Given the description of an element on the screen output the (x, y) to click on. 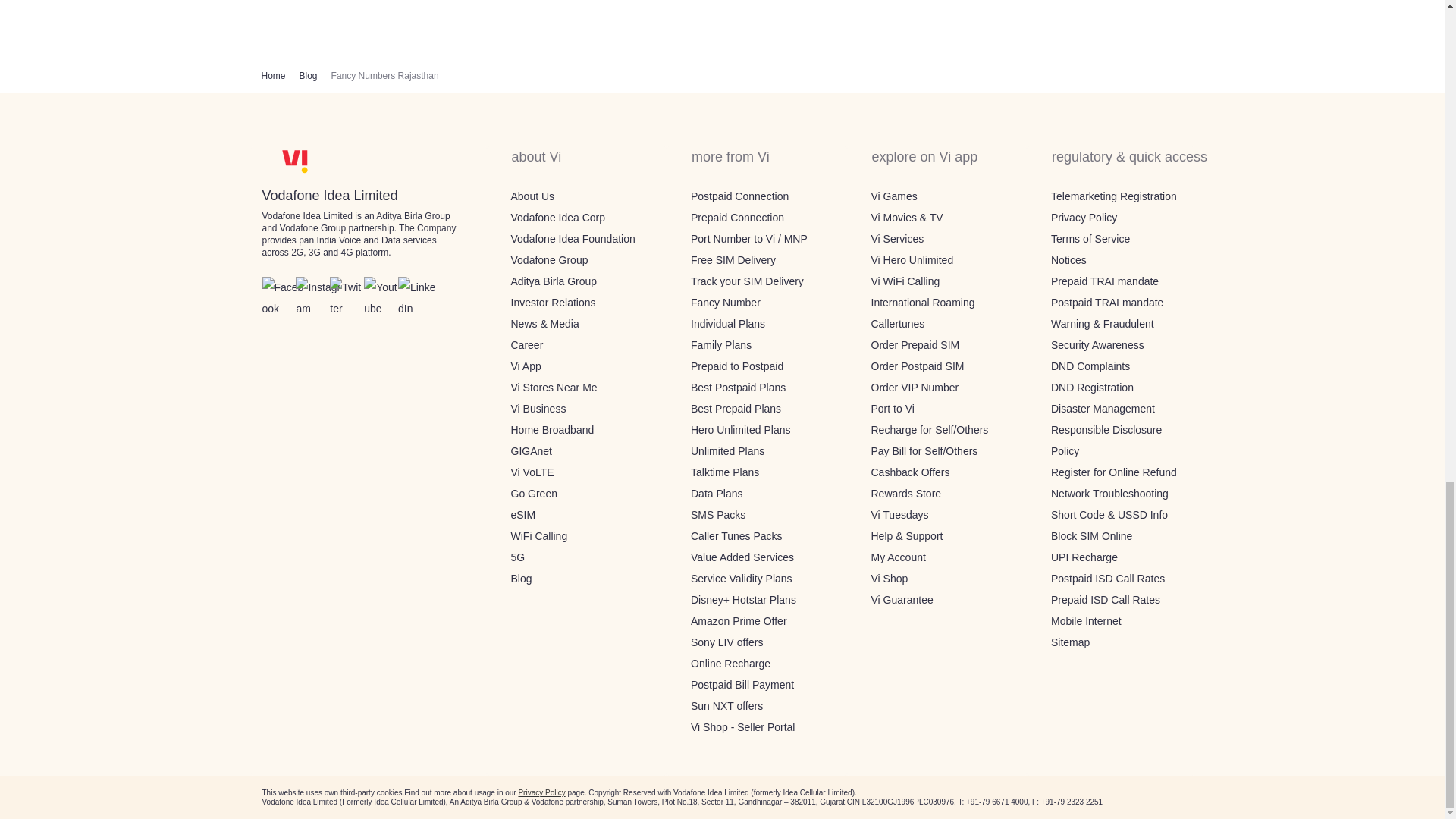
Facebook (285, 297)
Vi (294, 161)
Youtube (383, 297)
Vi Business (538, 408)
Aditya Birla Group (553, 281)
Career (527, 345)
Vi App (526, 366)
Vodafone Idea Corp (558, 217)
Vodafone Idea Foundation (572, 238)
Instagram (318, 297)
